Given the description of an element on the screen output the (x, y) to click on. 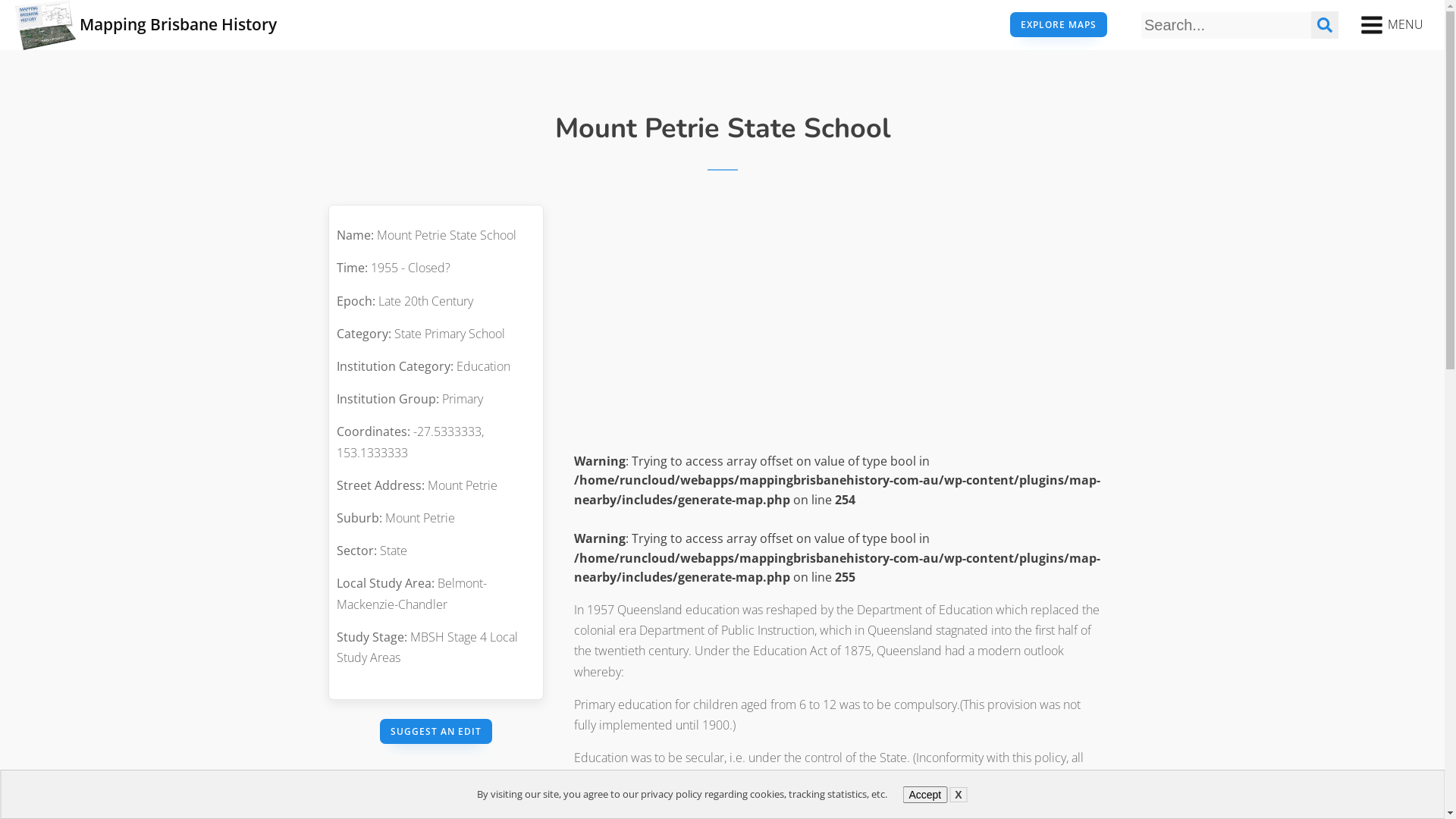
ADD TO FAVOURITES Element type: text (435, 788)
Mapping Brisbane History Element type: text (145, 25)
X Element type: text (957, 794)
SUGGEST AN EDIT Element type: text (435, 730)
MENU Element type: text (1391, 24)
Accept Element type: text (924, 794)
EXPLORE MAPS Element type: text (1058, 24)
